Given the description of an element on the screen output the (x, y) to click on. 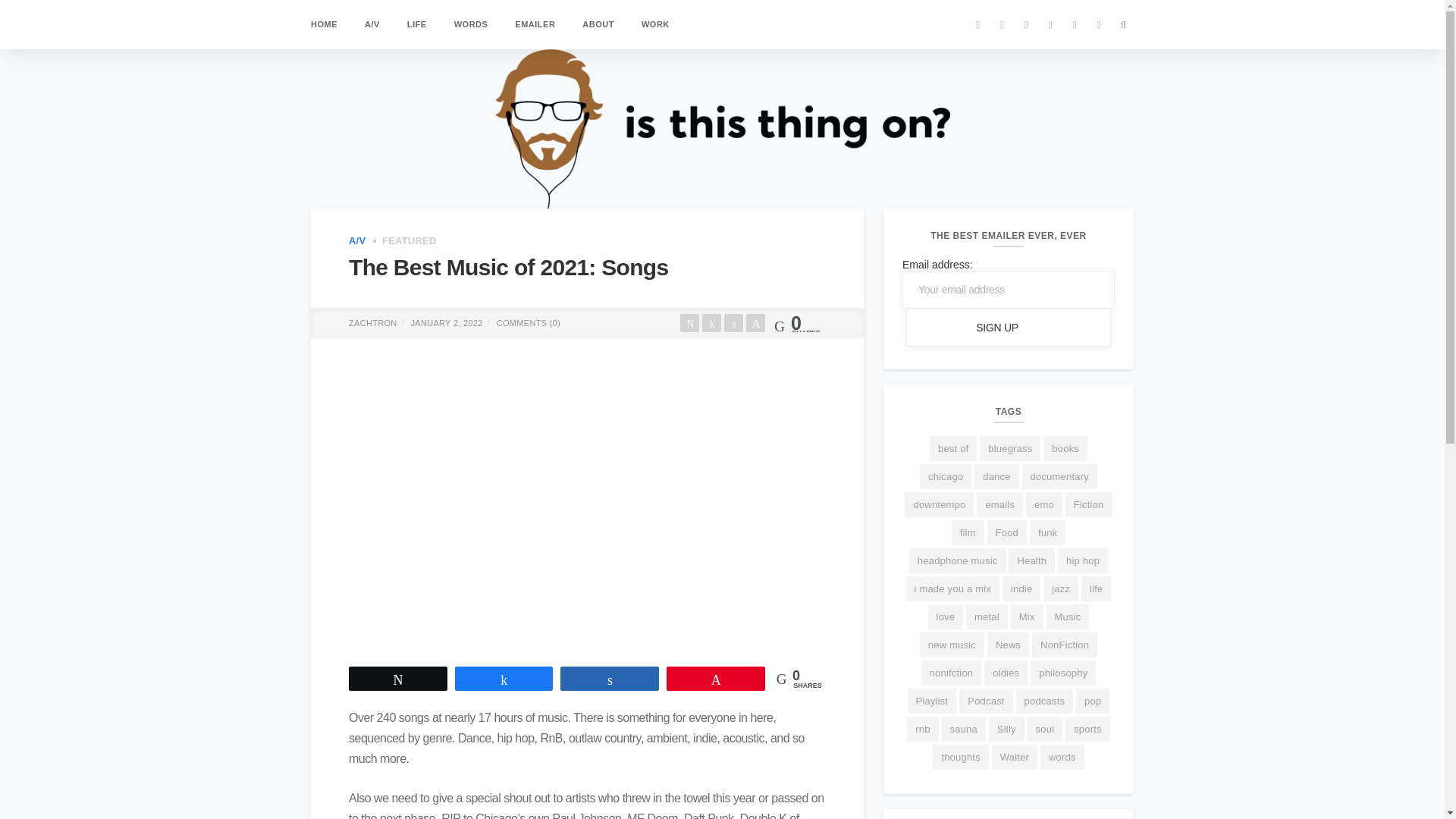
instagram (1050, 24)
ZACHTRON (373, 322)
EMAILER (534, 24)
HOME (324, 24)
spotify (1098, 24)
linkedin (1002, 24)
WORK (655, 24)
soundcloud (1075, 24)
Sign up (1007, 327)
JANUARY 2, 2022 (446, 322)
LIFE (416, 24)
twitter (977, 24)
WORDS (470, 24)
youtube (1026, 24)
ABOUT (598, 24)
